Given the description of an element on the screen output the (x, y) to click on. 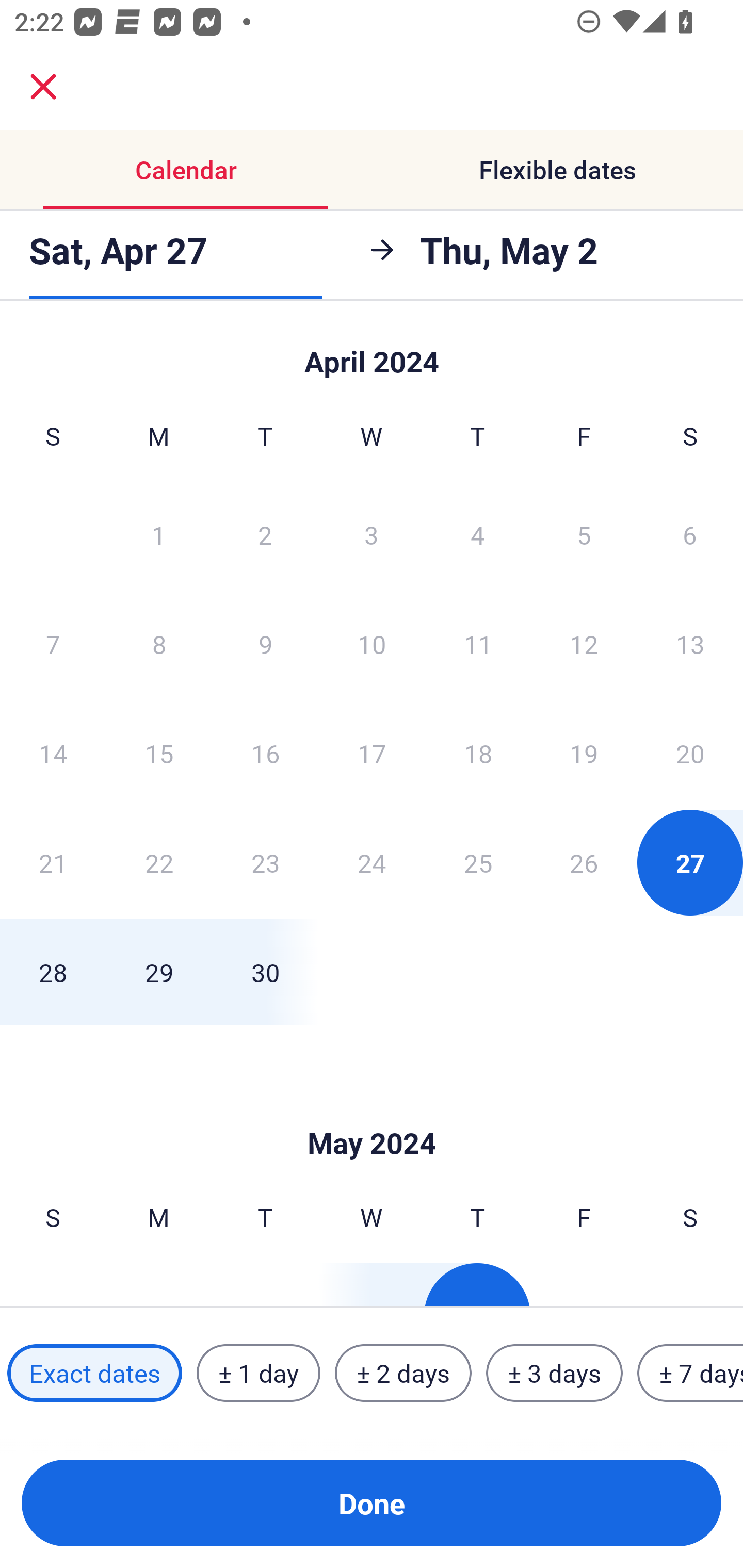
close. (43, 86)
Flexible dates (557, 170)
Skip to Done (371, 352)
1 Monday, April 1, 2024 (158, 534)
2 Tuesday, April 2, 2024 (264, 534)
3 Wednesday, April 3, 2024 (371, 534)
4 Thursday, April 4, 2024 (477, 534)
5 Friday, April 5, 2024 (583, 534)
6 Saturday, April 6, 2024 (689, 534)
7 Sunday, April 7, 2024 (53, 643)
8 Monday, April 8, 2024 (159, 643)
9 Tuesday, April 9, 2024 (265, 643)
10 Wednesday, April 10, 2024 (371, 643)
11 Thursday, April 11, 2024 (477, 643)
12 Friday, April 12, 2024 (584, 643)
13 Saturday, April 13, 2024 (690, 643)
14 Sunday, April 14, 2024 (53, 752)
15 Monday, April 15, 2024 (159, 752)
16 Tuesday, April 16, 2024 (265, 752)
17 Wednesday, April 17, 2024 (371, 752)
18 Thursday, April 18, 2024 (477, 752)
19 Friday, April 19, 2024 (584, 752)
20 Saturday, April 20, 2024 (690, 752)
21 Sunday, April 21, 2024 (53, 862)
22 Monday, April 22, 2024 (159, 862)
23 Tuesday, April 23, 2024 (265, 862)
24 Wednesday, April 24, 2024 (371, 862)
25 Thursday, April 25, 2024 (477, 862)
26 Friday, April 26, 2024 (584, 862)
Skip to Done (371, 1112)
Exact dates (94, 1372)
± 1 day (258, 1372)
± 2 days (403, 1372)
± 3 days (553, 1372)
± 7 days (690, 1372)
Done (371, 1502)
